Given the description of an element on the screen output the (x, y) to click on. 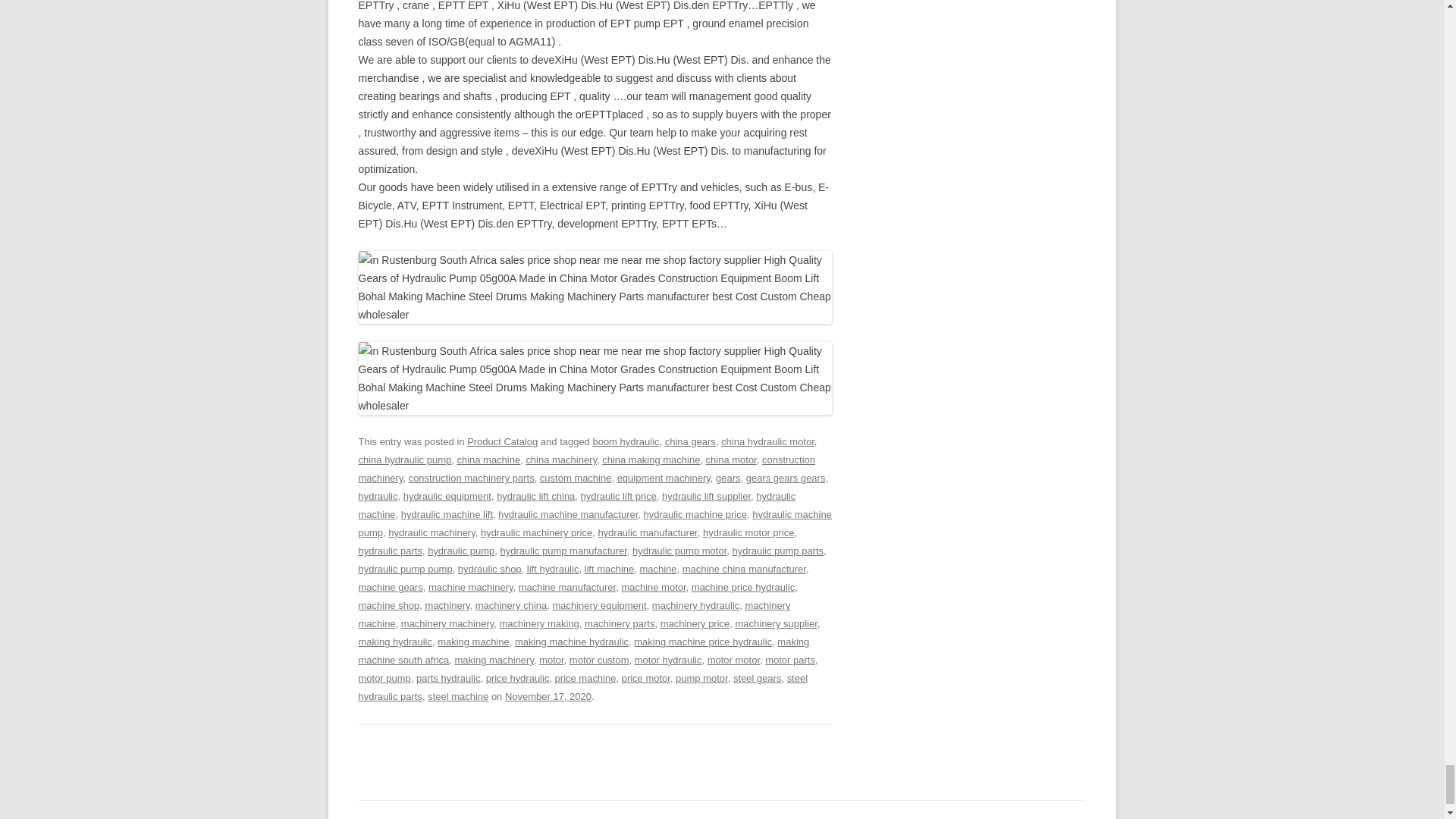
8:49 am (548, 696)
